Given the description of an element on the screen output the (x, y) to click on. 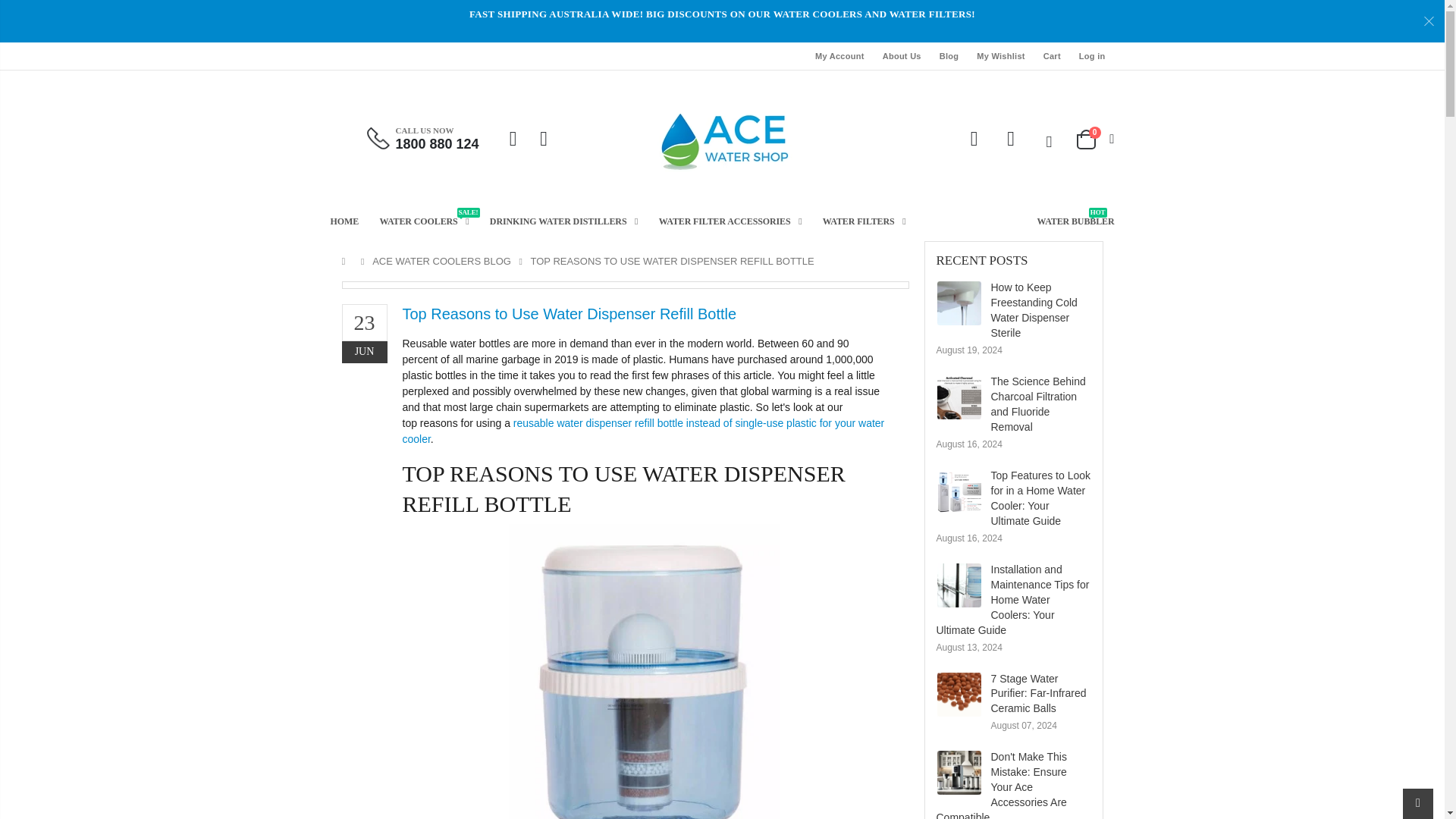
Log in (1091, 55)
My Account (839, 55)
Cart (1052, 55)
My Wishlist (1000, 55)
About Us (901, 55)
Blog (949, 55)
